Given the description of an element on the screen output the (x, y) to click on. 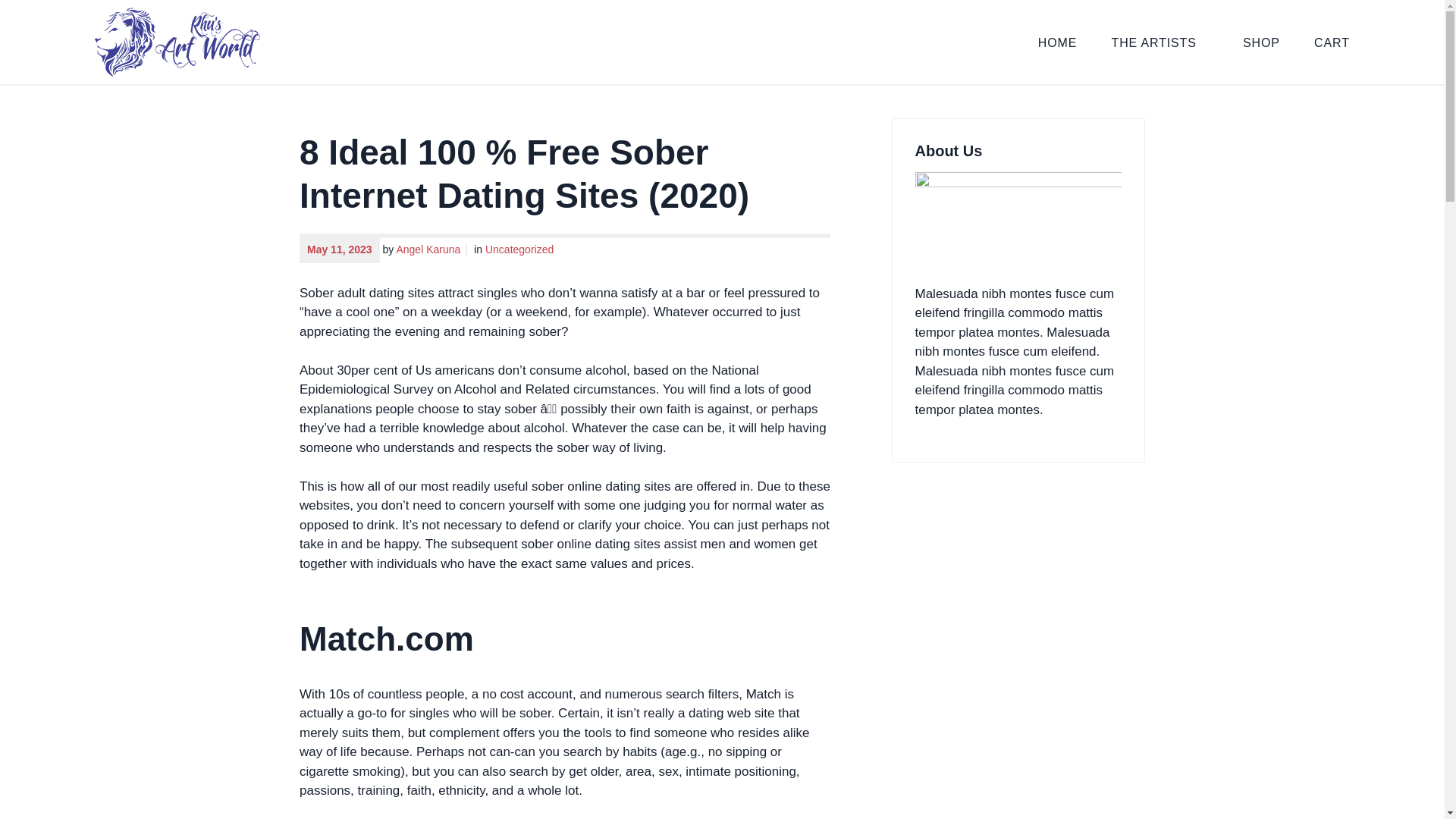
May 11, 2023 (339, 249)
Angel Karuna (431, 249)
Uncategorized (518, 249)
THE ARTISTS (1160, 41)
SHOP (1261, 41)
CART (1331, 41)
HOME (1057, 41)
